Given the description of an element on the screen output the (x, y) to click on. 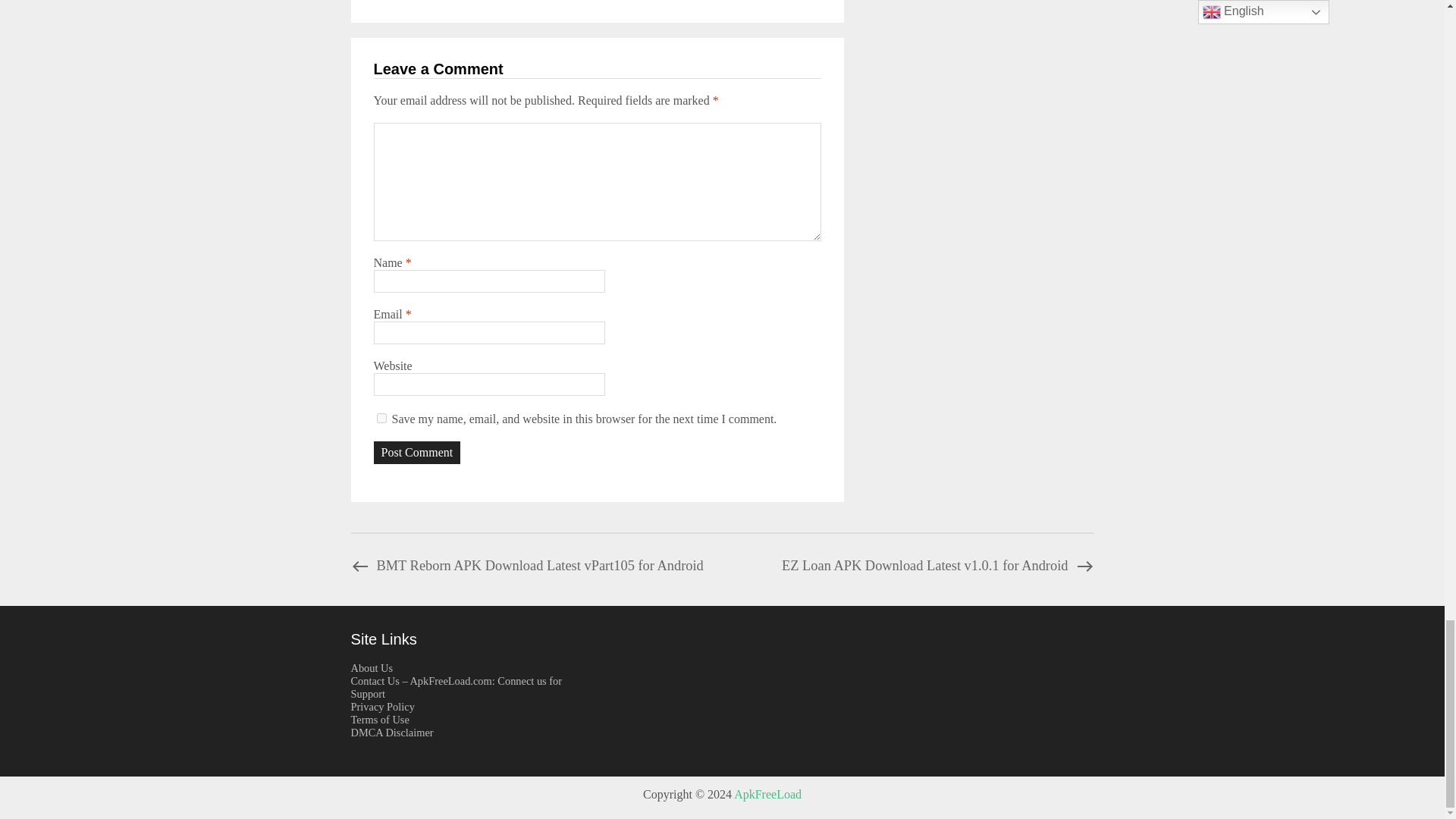
ApkFreeLoad (767, 793)
Post Comment (416, 452)
BMT Reborn APK Download Latest vPart105 for Android (526, 566)
About Us (371, 667)
EZ Loan APK Download Latest v1.0.1 for Android (937, 566)
Post Comment (416, 452)
Privacy Policy (381, 706)
yes (380, 418)
